Given the description of an element on the screen output the (x, y) to click on. 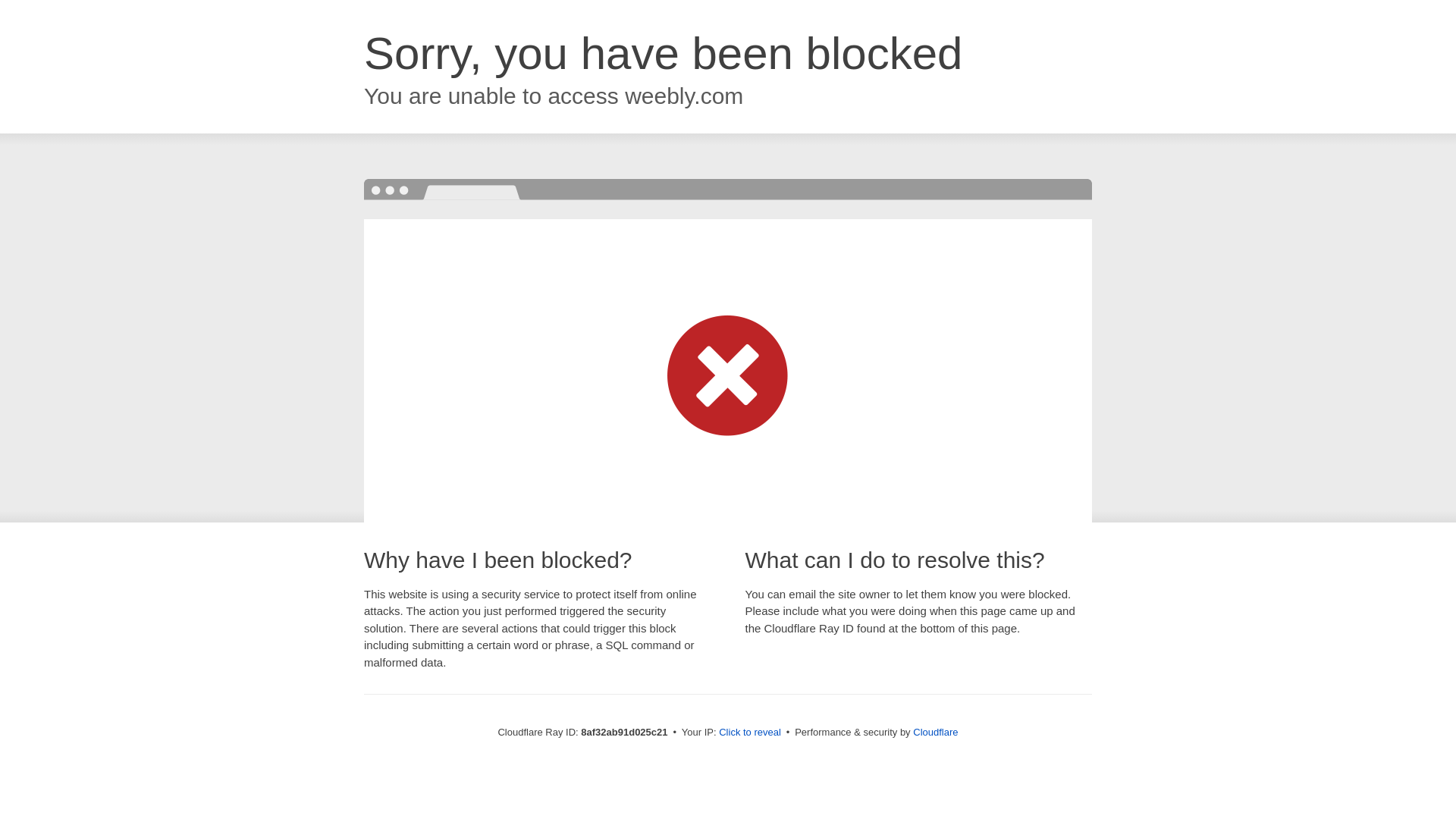
Click to reveal (749, 732)
Cloudflare (935, 731)
